Given the description of an element on the screen output the (x, y) to click on. 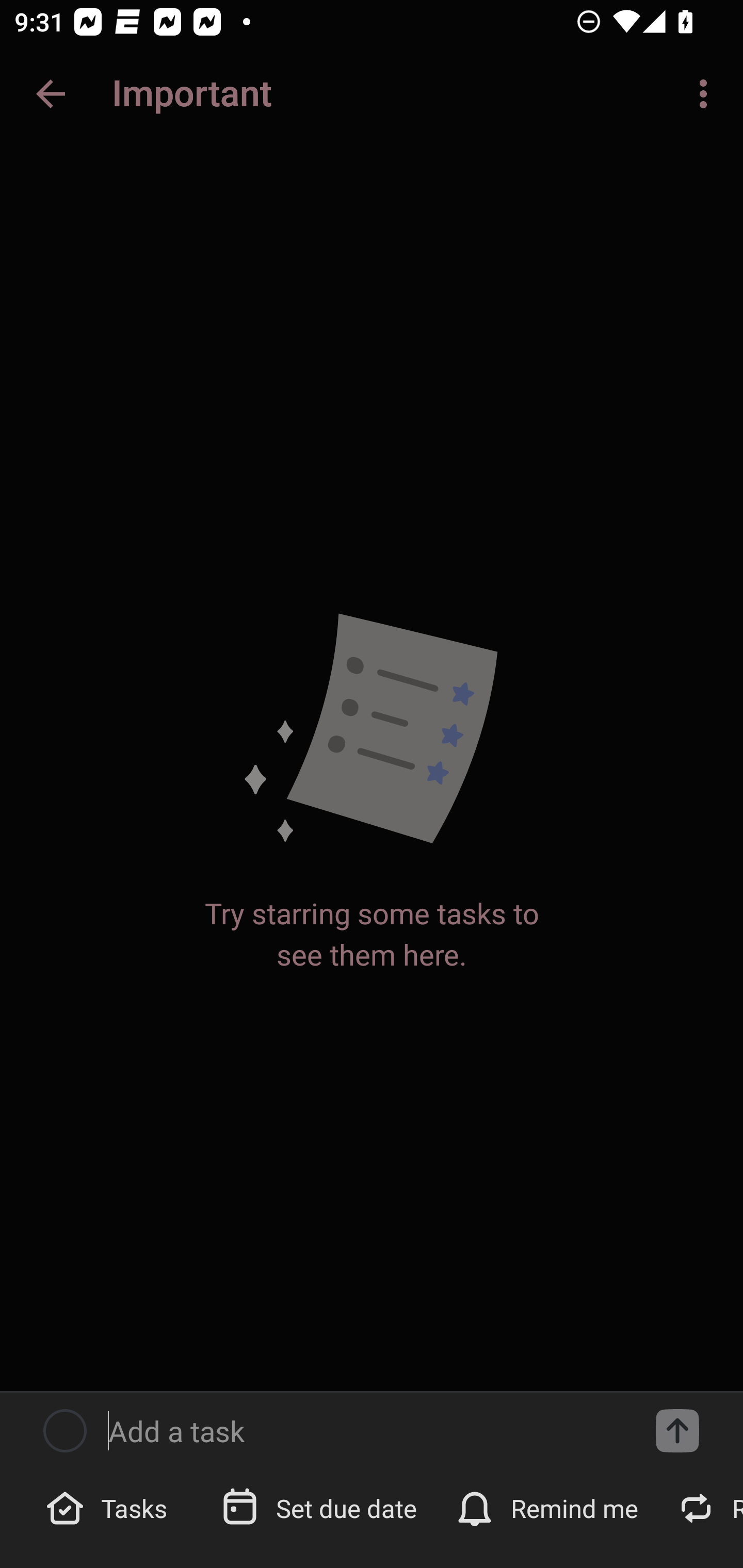
Back (50, 93)
testappium002@outlook.com Enter search (185, 93)
More options (706, 93)
Add a task (676, 1430)
Add a task (366, 1430)
Tasks (108, 1507)
Set due date (321, 1507)
Remind me (548, 1507)
Repeat (705, 1507)
